Given the description of an element on the screen output the (x, y) to click on. 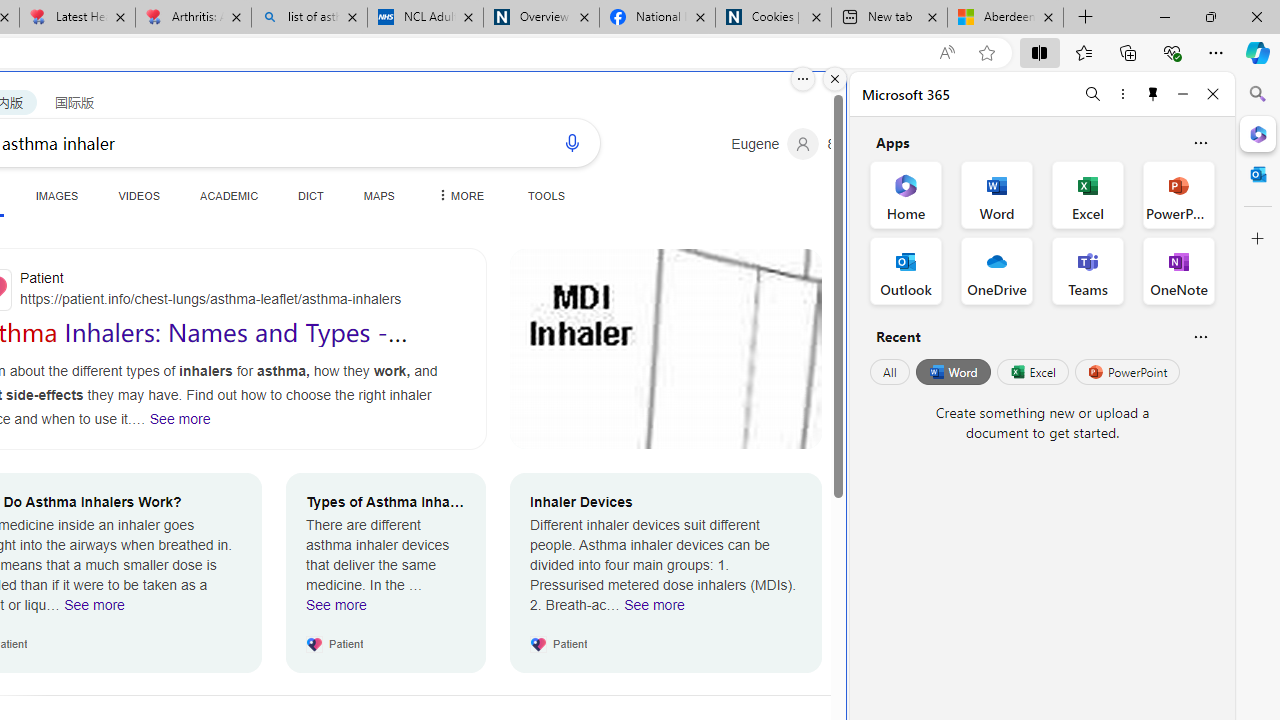
TOOLS (546, 195)
TOOLS (546, 195)
Search using voice (572, 142)
Cookies | About | NICE (772, 17)
MORE (458, 195)
DICT (310, 195)
